Given the description of an element on the screen output the (x, y) to click on. 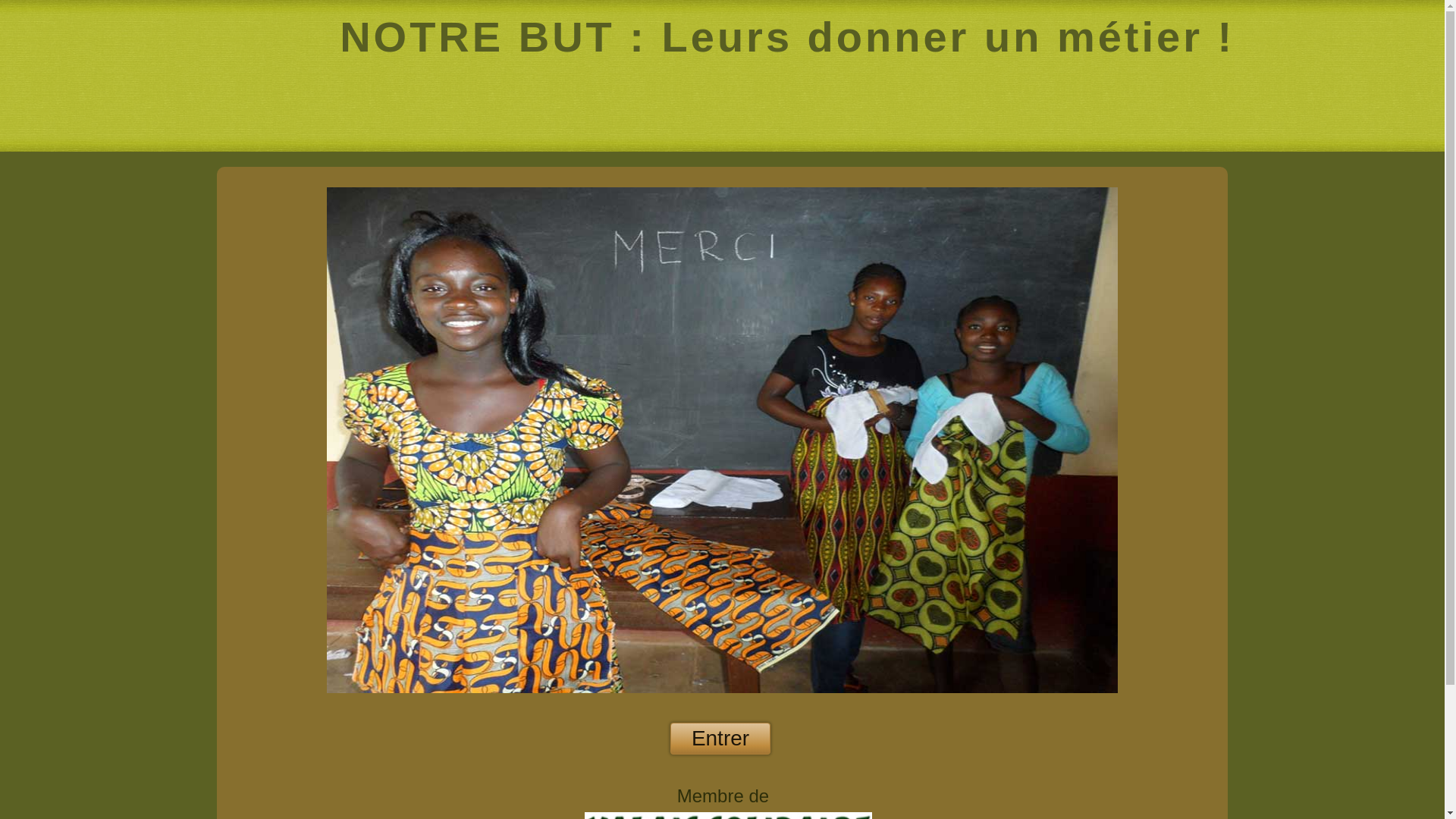
Entrer Element type: text (720, 738)
